Given the description of an element on the screen output the (x, y) to click on. 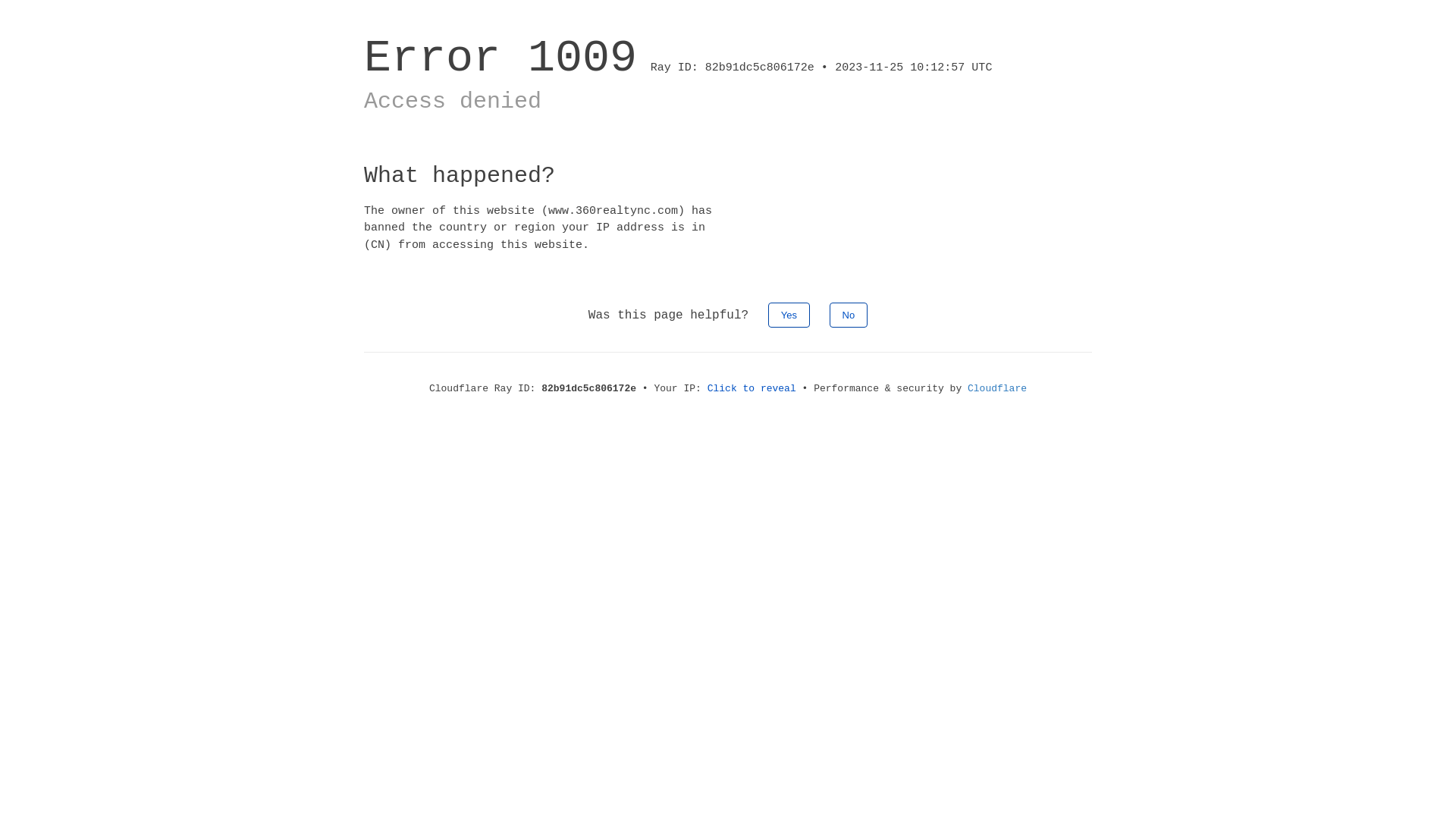
Click to reveal Element type: text (751, 388)
No Element type: text (848, 314)
Cloudflare Element type: text (996, 388)
Yes Element type: text (788, 314)
